Given the description of an element on the screen output the (x, y) to click on. 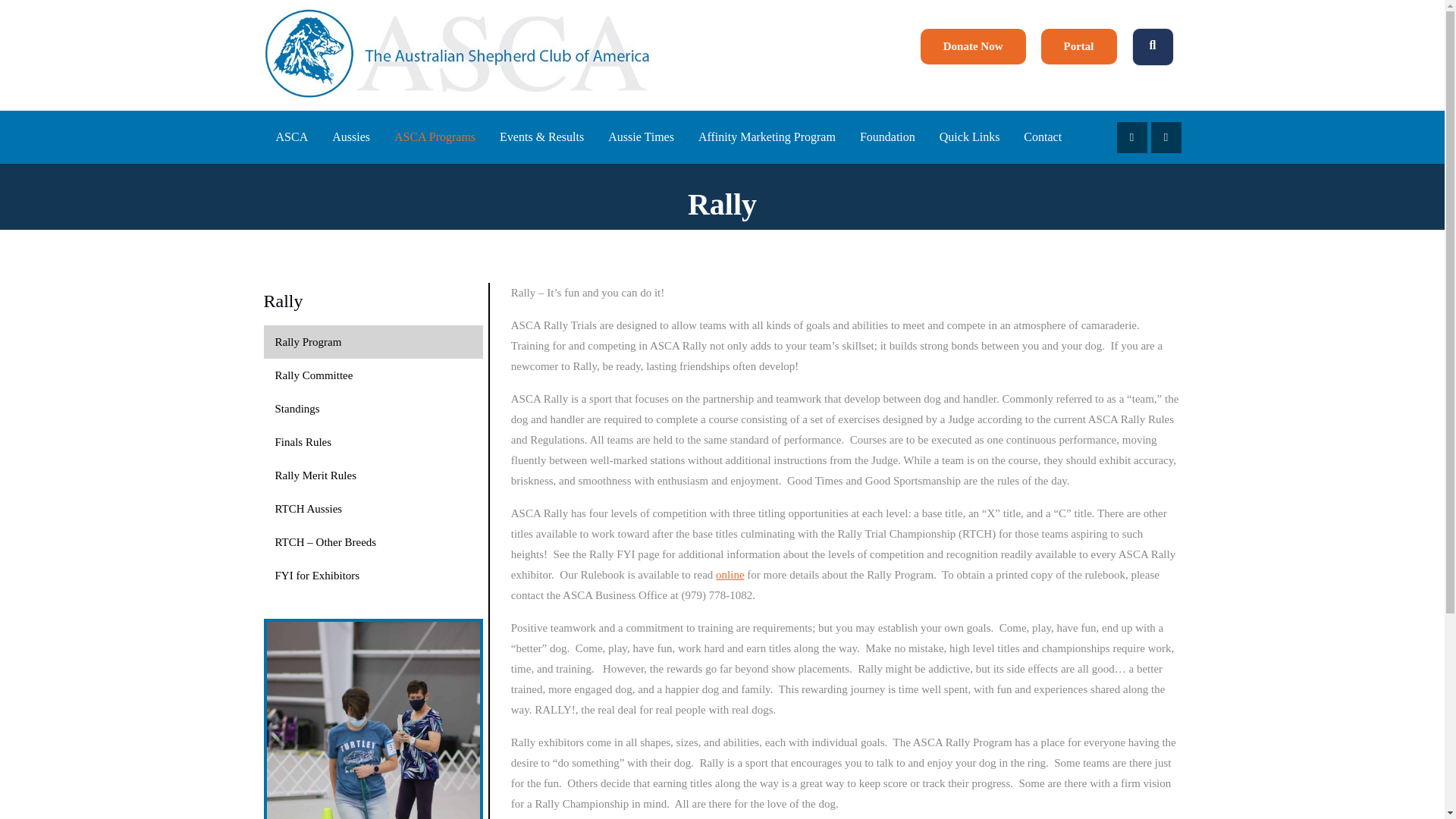
ASCA (457, 55)
ASCA (457, 53)
